Given the description of an element on the screen output the (x, y) to click on. 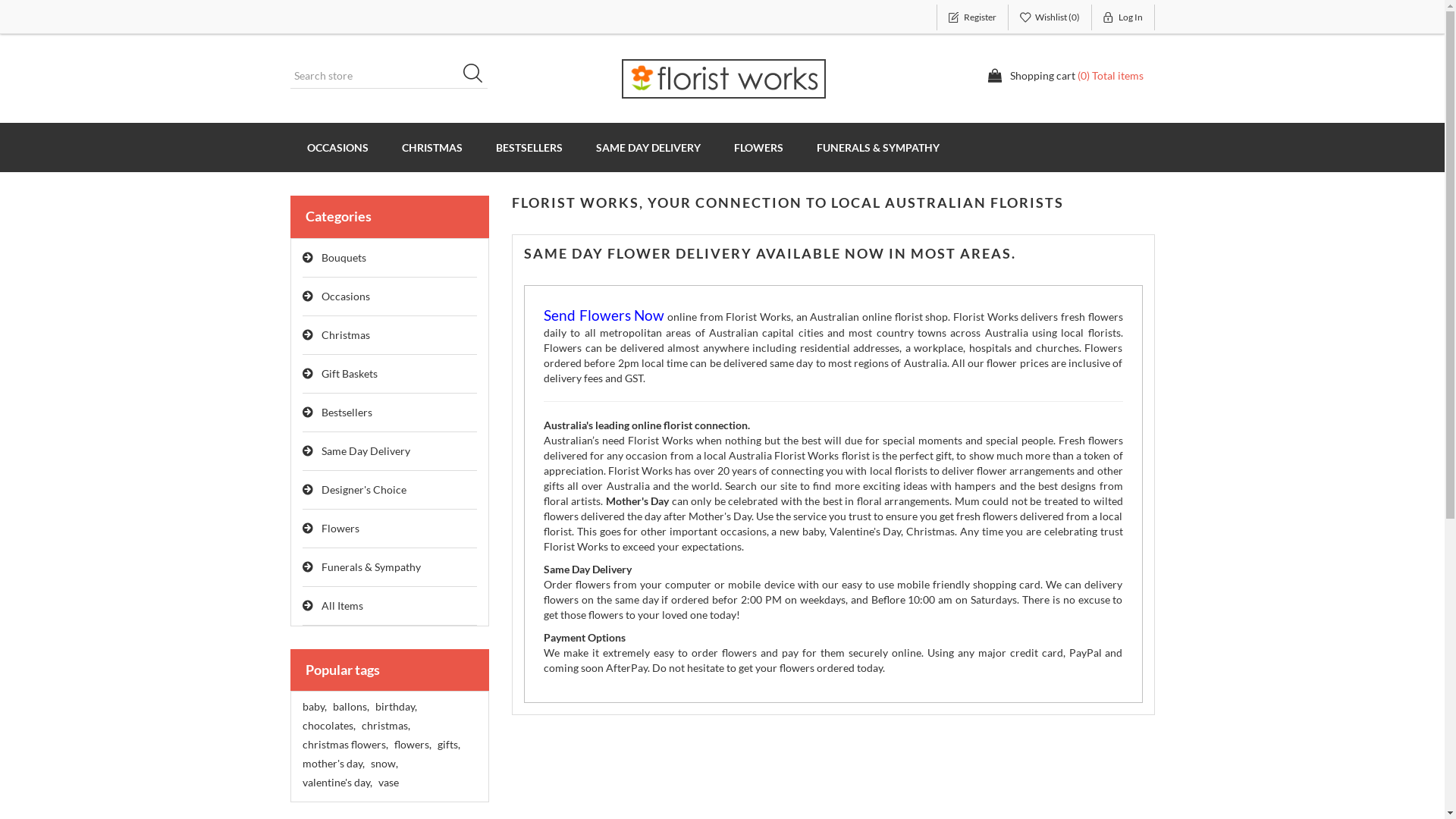
FUNERALS & SYMPATHY Element type: text (877, 147)
FLOWERS Element type: text (758, 147)
Flowers Element type: text (388, 528)
birthday, Element type: text (395, 706)
Gift Baskets Element type: text (388, 373)
Bouquets Element type: text (388, 257)
Occasions Element type: text (388, 296)
Funerals & Sympathy Element type: text (388, 567)
christmas flowers, Element type: text (344, 744)
christmas, Element type: text (384, 725)
CHRISTMAS Element type: text (432, 147)
Register Element type: text (971, 17)
gifts, Element type: text (447, 744)
Log In Element type: text (1123, 17)
Designer's Choice Element type: text (388, 489)
snow, Element type: text (383, 763)
Wishlist (0) Element type: text (1050, 17)
Send Flowers Now Element type: text (603, 316)
chocolates, Element type: text (327, 725)
Same Day Delivery Element type: text (388, 451)
ballons, Element type: text (350, 706)
All Items Element type: text (388, 605)
SAME DAY DELIVERY Element type: text (648, 147)
Bestsellers Element type: text (388, 412)
OCCASIONS Element type: text (336, 147)
flowers, Element type: text (412, 744)
baby, Element type: text (313, 706)
BESTSELLERS Element type: text (529, 147)
Shopping cart (0) Total items Element type: text (1065, 75)
valentine's day, Element type: text (336, 782)
vase Element type: text (387, 782)
Christmas Element type: text (388, 335)
mother's day, Element type: text (332, 763)
